Given the description of an element on the screen output the (x, y) to click on. 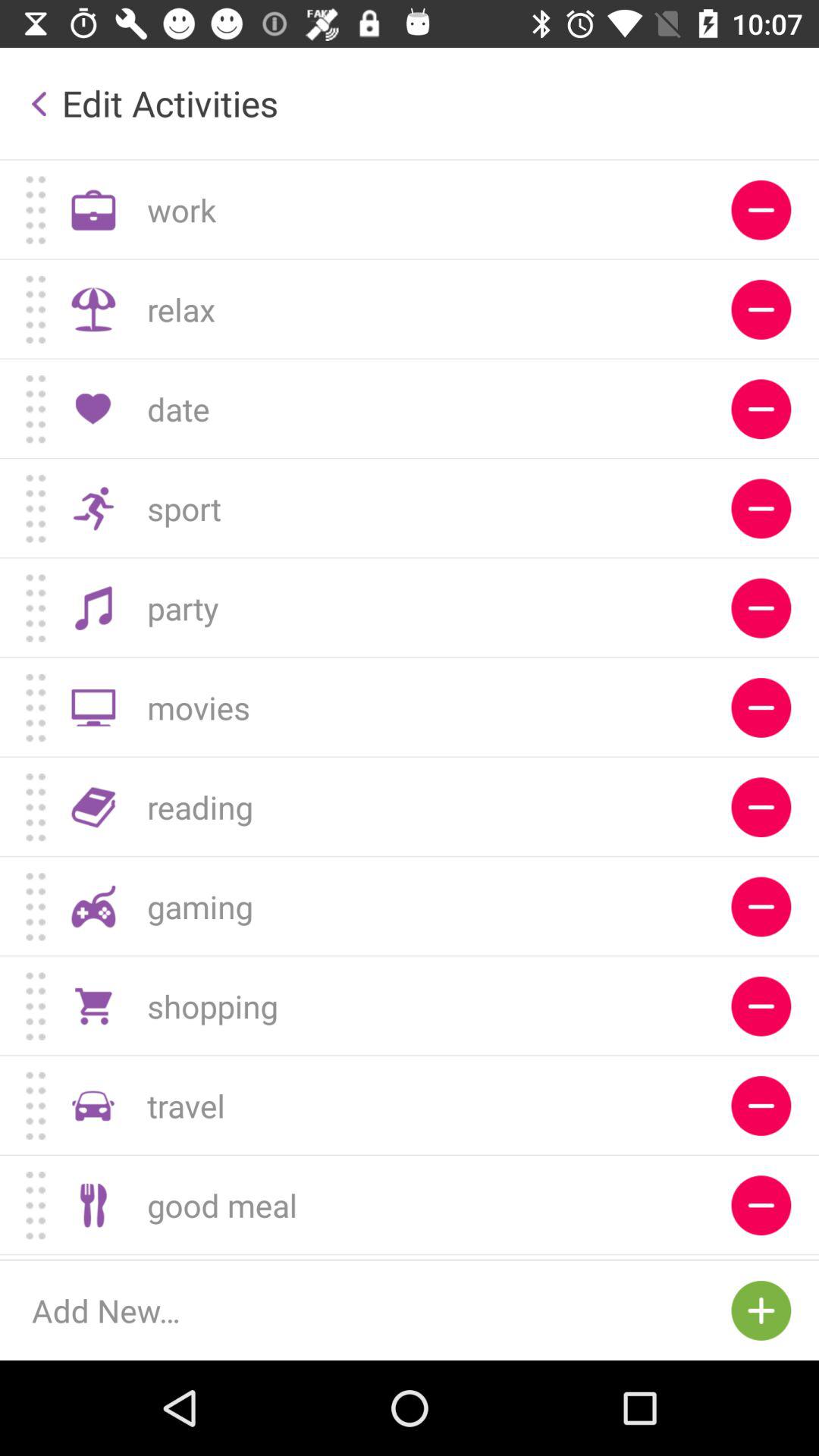
delete work option (761, 209)
